Given the description of an element on the screen output the (x, y) to click on. 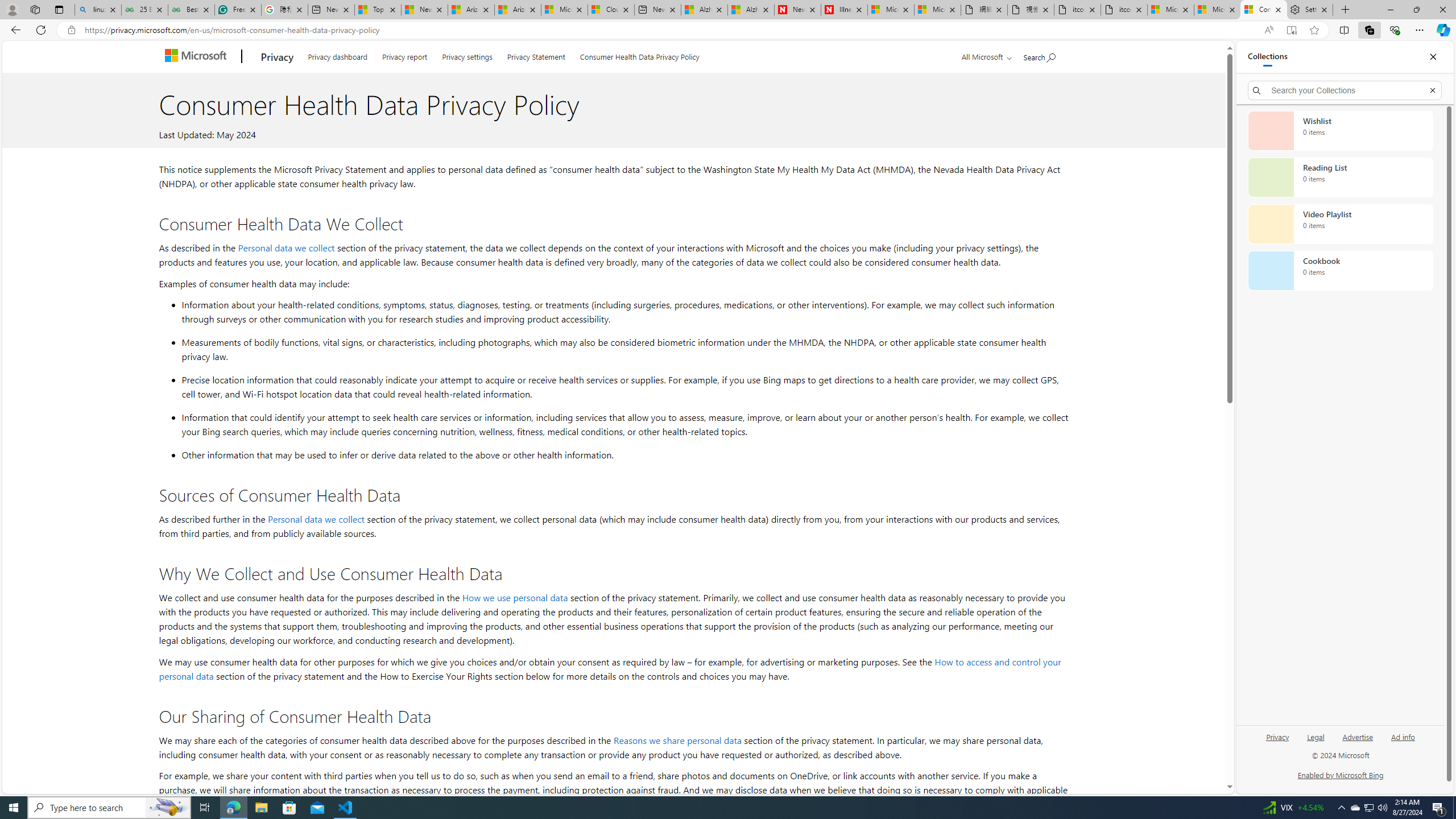
Privacy Statement (536, 54)
Wishlist collection, 0 items (1339, 130)
linux basic - Search (97, 9)
